Given the description of an element on the screen output the (x, y) to click on. 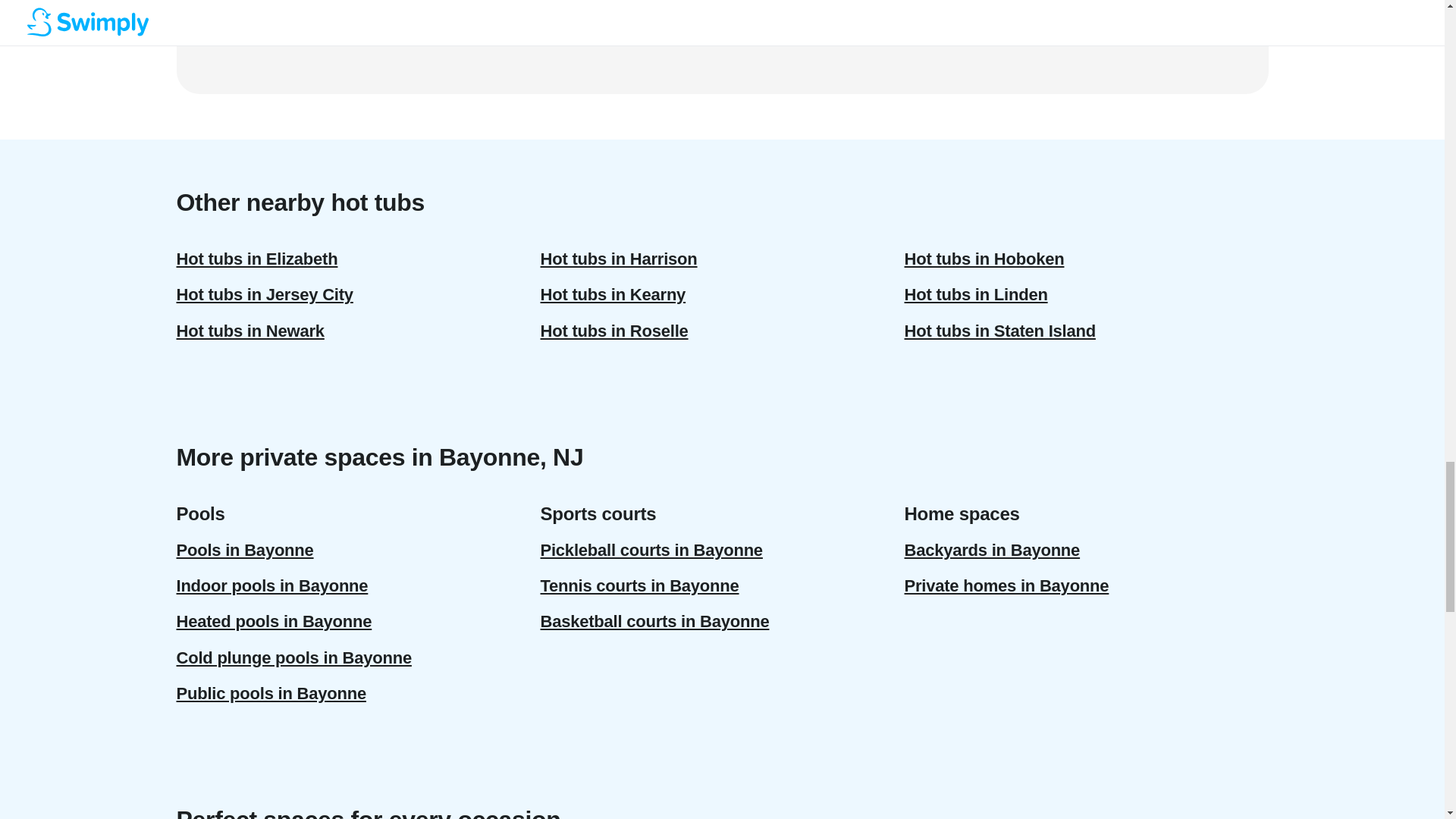
Pools in Bayonne (358, 550)
Hot tubs in Newark (358, 330)
Hot tubs in Linden (1086, 294)
Hot tubs in Staten Island (1086, 330)
Hot tubs in Elizabeth (358, 258)
Heated pools in Bayonne (358, 621)
Hot tubs in Jersey City (358, 294)
Hot tubs in Harrison (722, 258)
Hot tubs in Hoboken (1086, 258)
Hot tubs in Roselle (722, 330)
Hot tubs in Kearny (722, 294)
Indoor pools in Bayonne (358, 585)
